Given the description of an element on the screen output the (x, y) to click on. 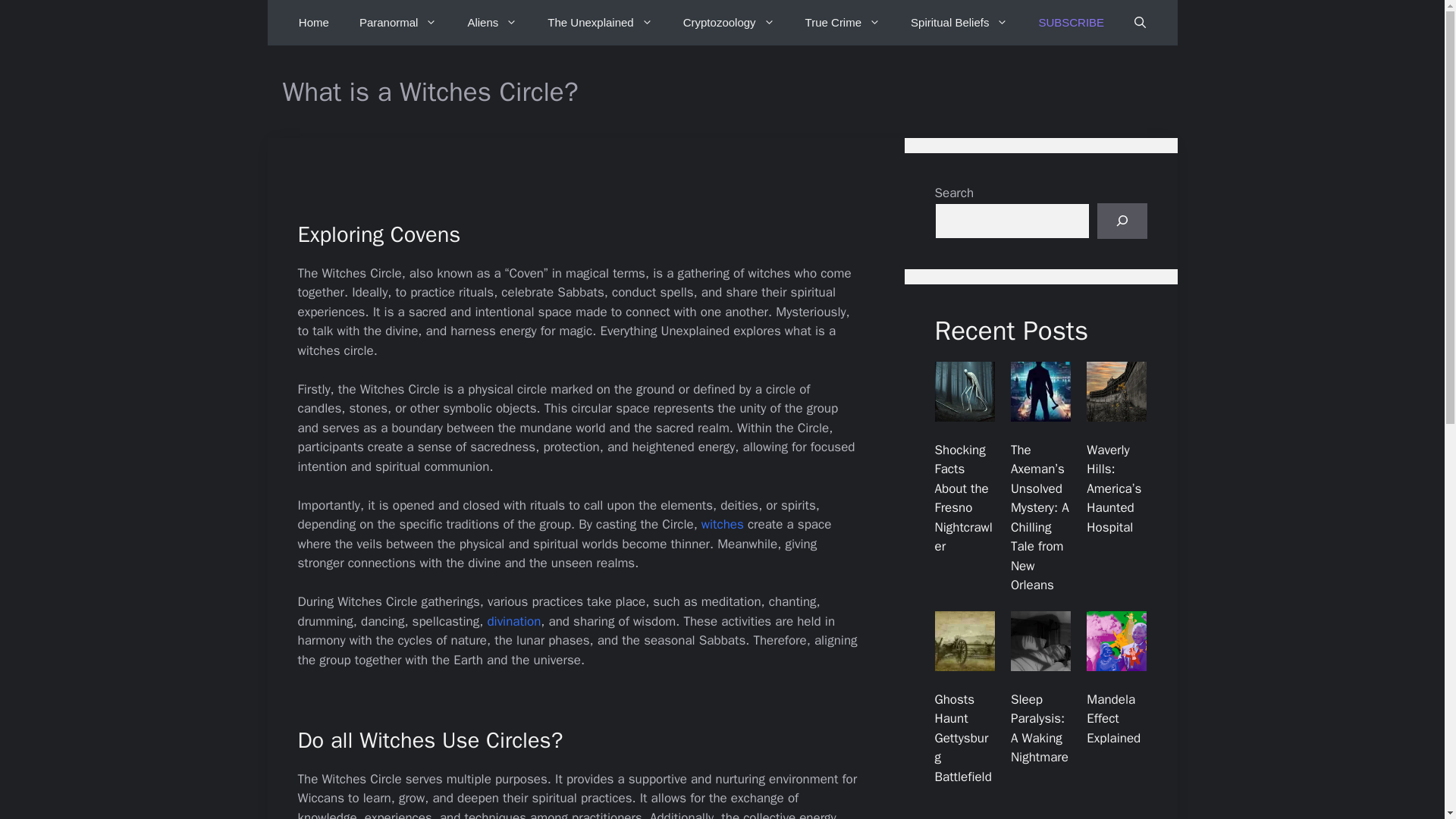
The Unexplained (599, 22)
SUBSCRIBE (1071, 22)
Paranormal (397, 22)
Spiritual Beliefs (959, 22)
Home (313, 22)
Cryptozoology (729, 22)
Aliens (491, 22)
True Crime (842, 22)
